Given the description of an element on the screen output the (x, y) to click on. 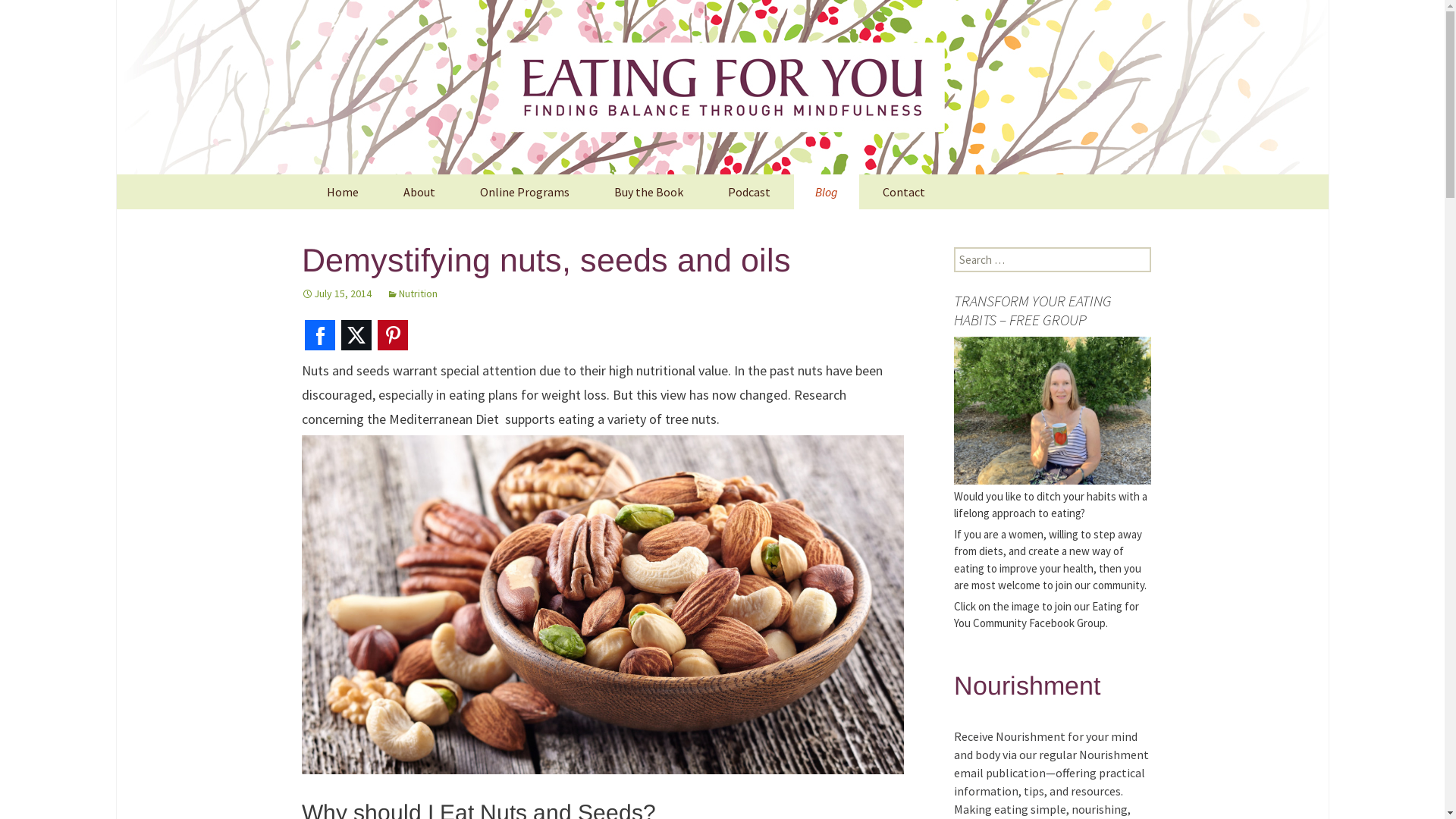
Eating For You
Balance your life through mindfulness. Element type: text (721, 87)
Home Element type: text (341, 191)
Blog Element type: text (825, 191)
July 15, 2014 Element type: text (336, 293)
Contact Element type: text (903, 191)
Buy the Book Element type: text (648, 191)
Podcast Element type: text (748, 191)
Pinterest Element type: hover (392, 334)
Facebook Element type: hover (319, 334)
About Element type: text (419, 191)
Search Element type: text (34, 16)
Skip to content Element type: text (274, 173)
X (Twitter) Element type: hover (356, 334)
Online Programs Element type: text (523, 191)
Nutrition Element type: text (411, 293)
